Given the description of an element on the screen output the (x, y) to click on. 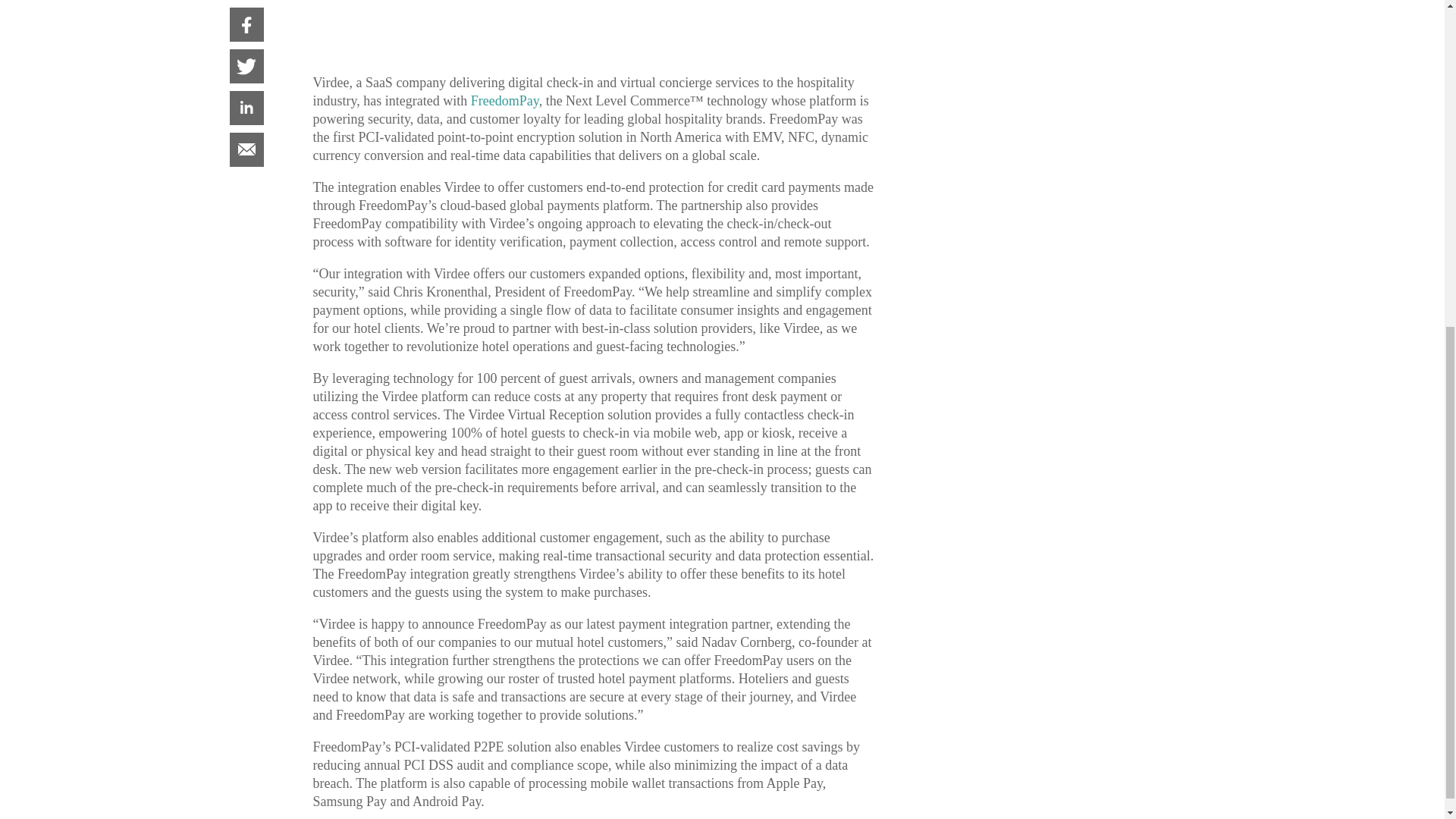
FreedomPay (504, 100)
